Given the description of an element on the screen output the (x, y) to click on. 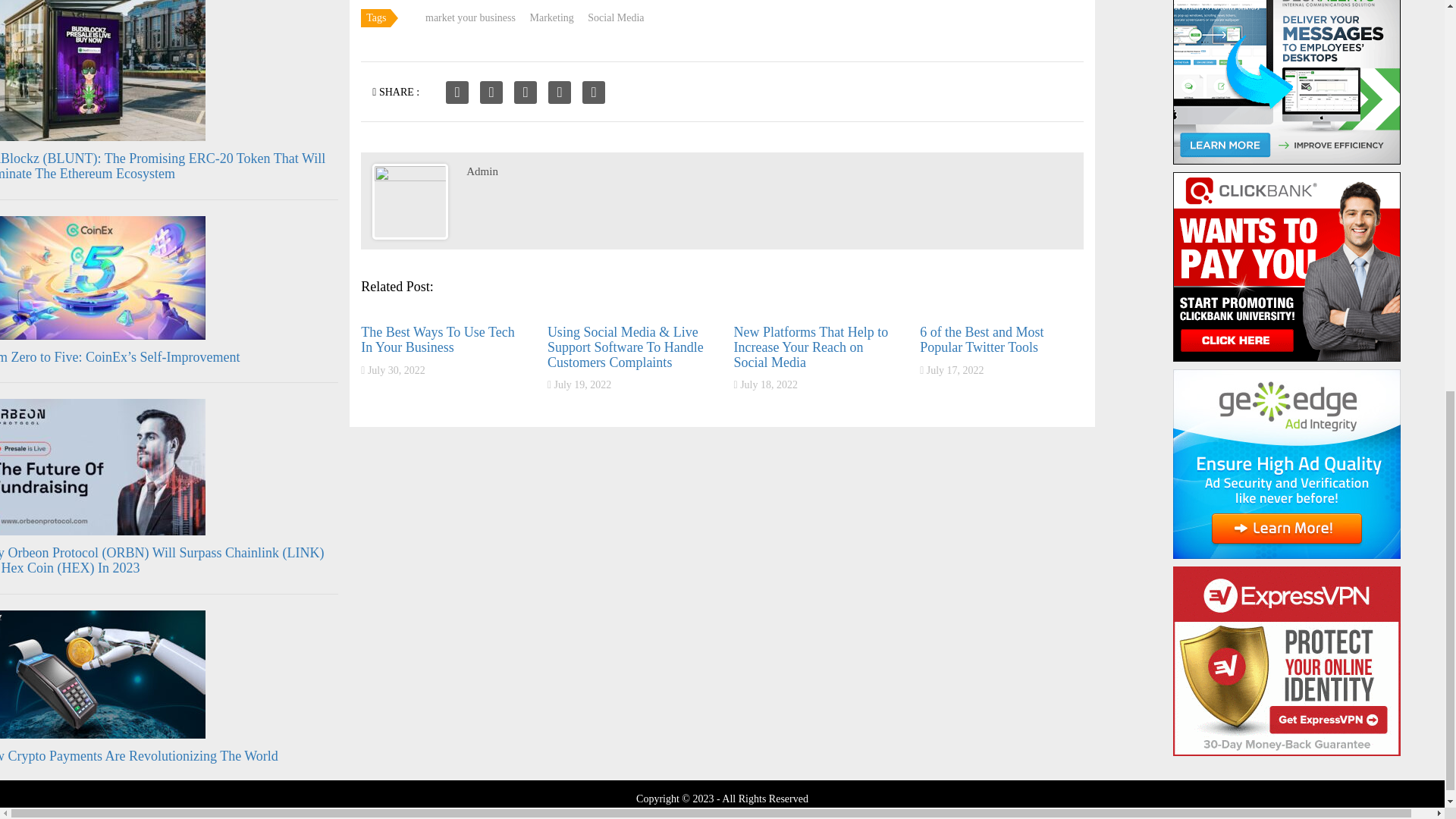
How Crypto Payments Are Revolutionizing The World (139, 755)
Posts by Admin (481, 171)
Share on Facebook (456, 92)
